Given the description of an element on the screen output the (x, y) to click on. 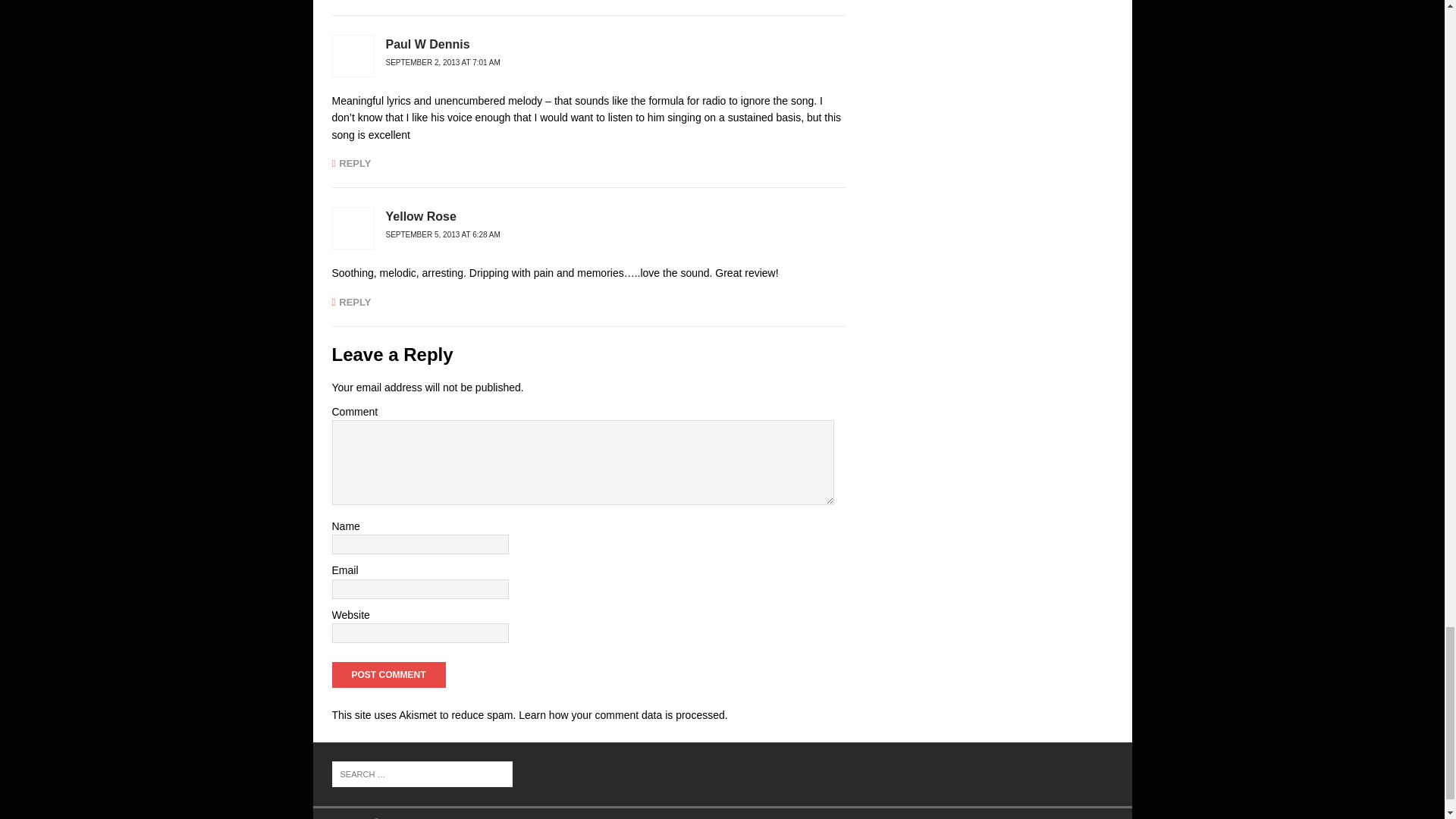
Post Comment (388, 674)
